Given the description of an element on the screen output the (x, y) to click on. 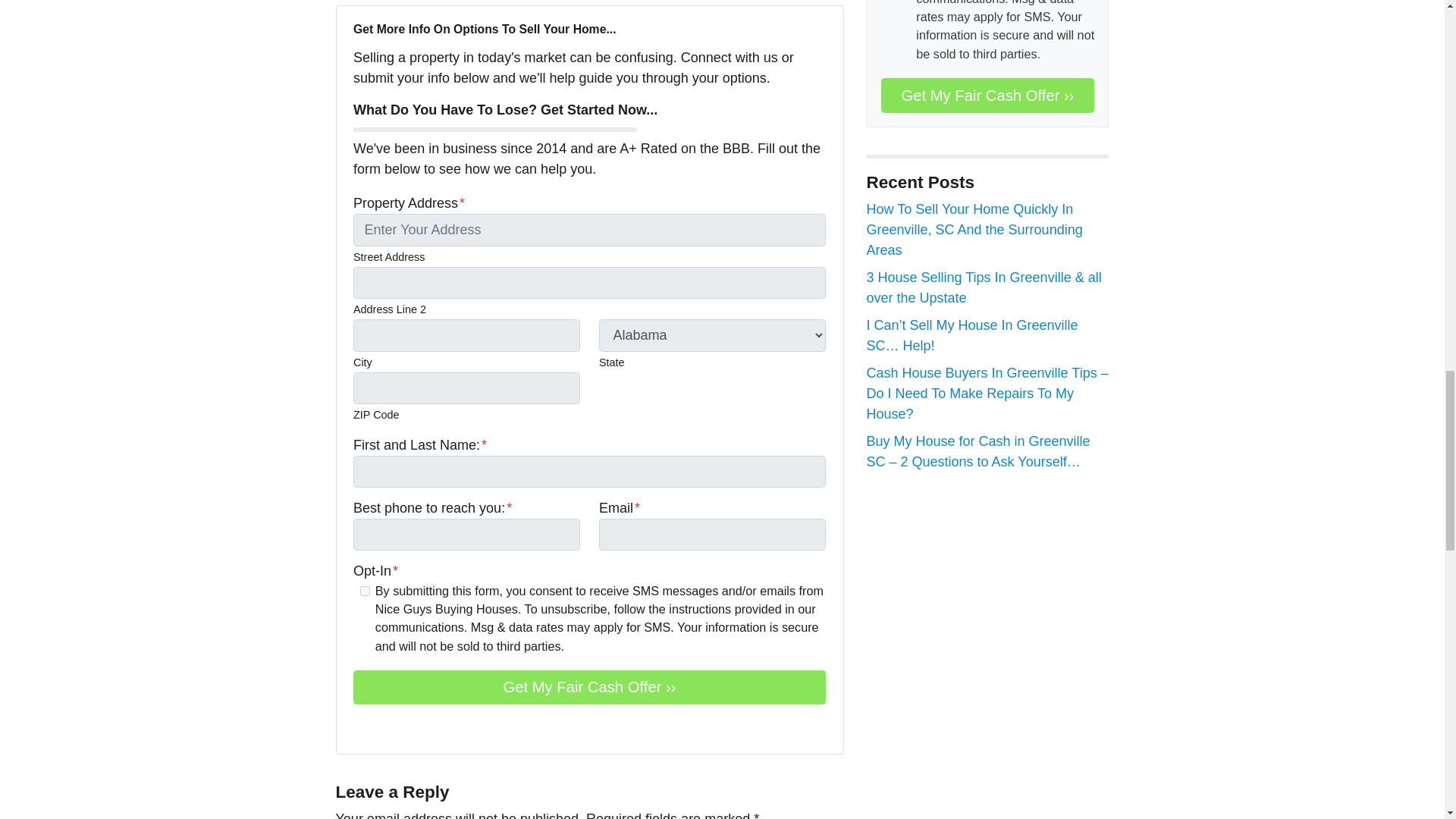
Zillow (404, 727)
YouTube (383, 727)
Facebook (362, 727)
